Given the description of an element on the screen output the (x, y) to click on. 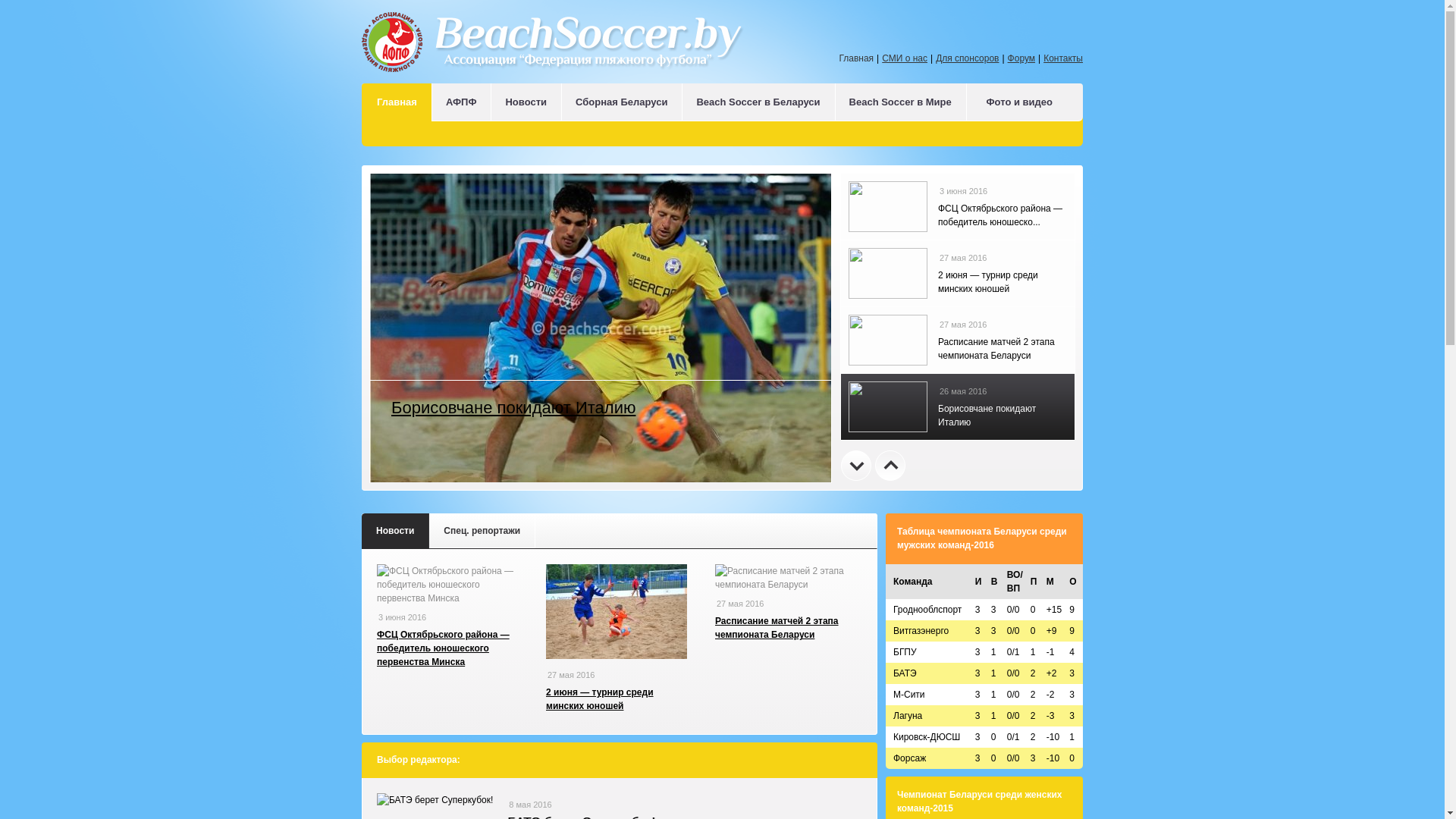
RSS Element type: text (1070, 30)
Facebook Element type: text (1041, 30)
